Given the description of an element on the screen output the (x, y) to click on. 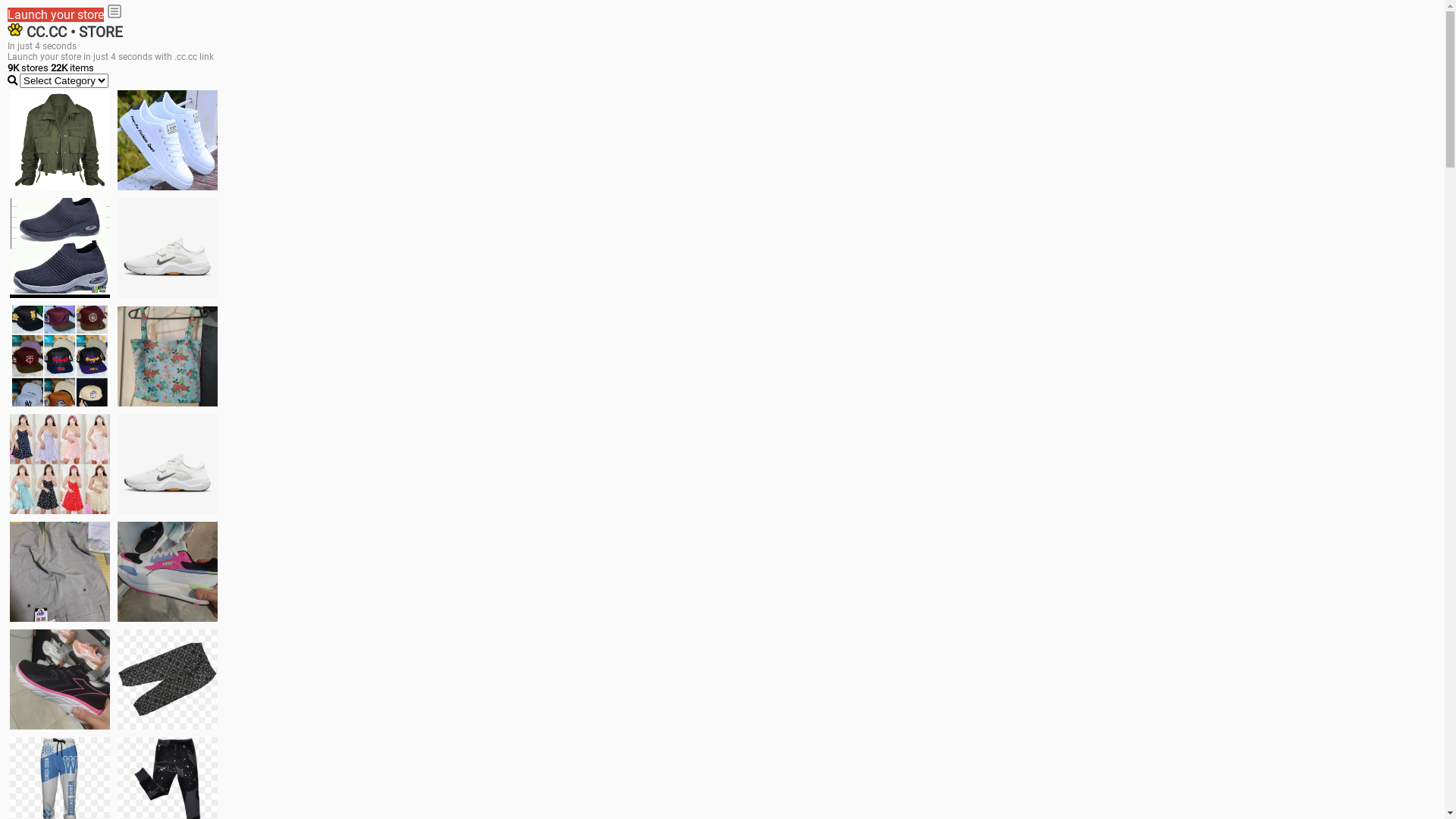
Short pant Element type: hover (167, 679)
Zapatillas Element type: hover (59, 679)
white shoes Element type: hover (167, 140)
shoes for boys Element type: hover (59, 247)
Launch your store Element type: text (55, 14)
Dress/square nect top Element type: hover (59, 464)
Zapatillas pumas Element type: hover (167, 571)
Shoes Element type: hover (167, 464)
Things we need Element type: hover (59, 355)
jacket Element type: hover (59, 140)
Shoes for boys Element type: hover (167, 247)
Ukay cloth Element type: hover (167, 356)
